Given the description of an element on the screen output the (x, y) to click on. 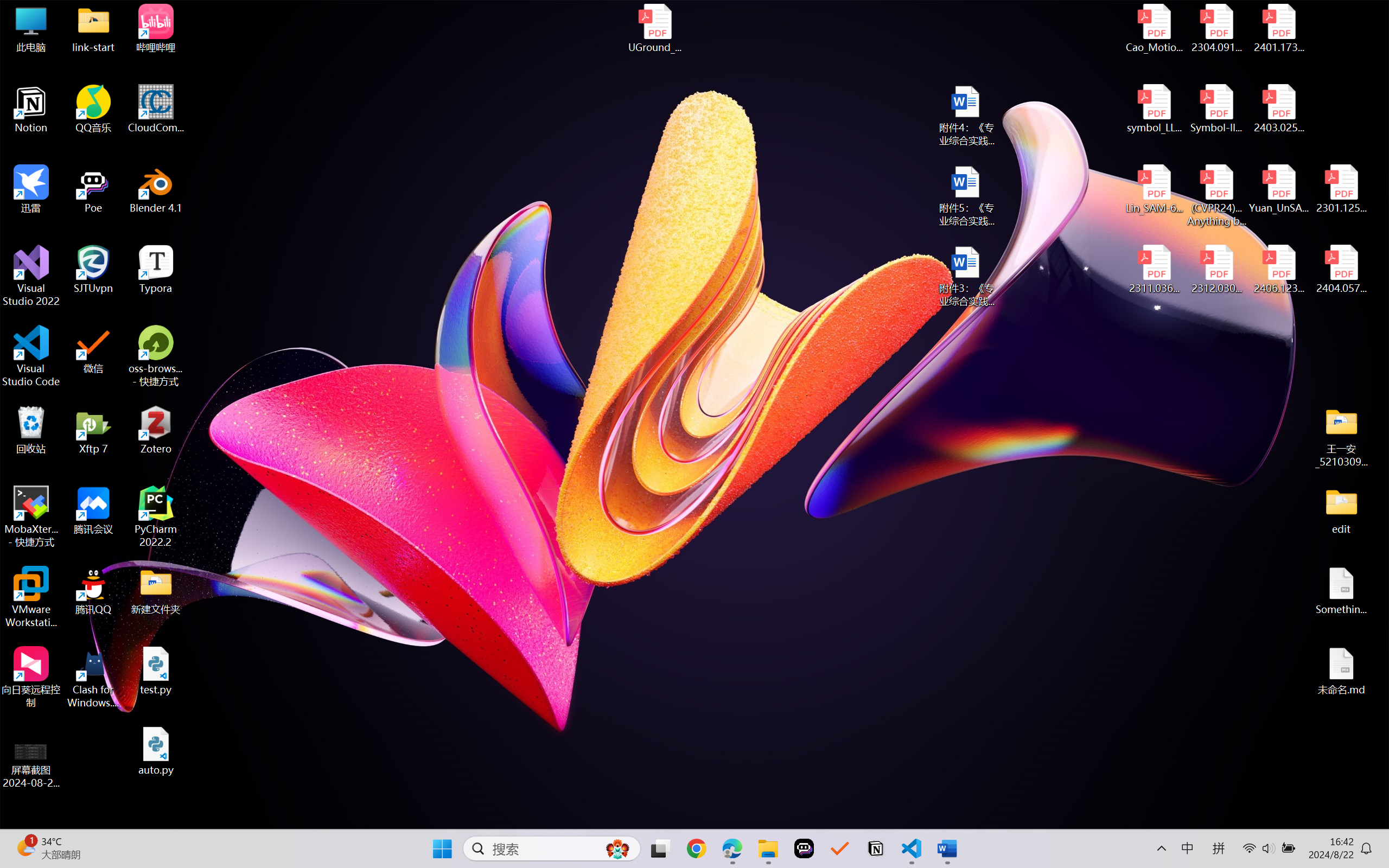
2301.12597v3.pdf (1340, 189)
edit (1340, 510)
SJTUvpn (93, 269)
VMware Workstation Pro (31, 597)
CloudCompare (156, 109)
